Given the description of an element on the screen output the (x, y) to click on. 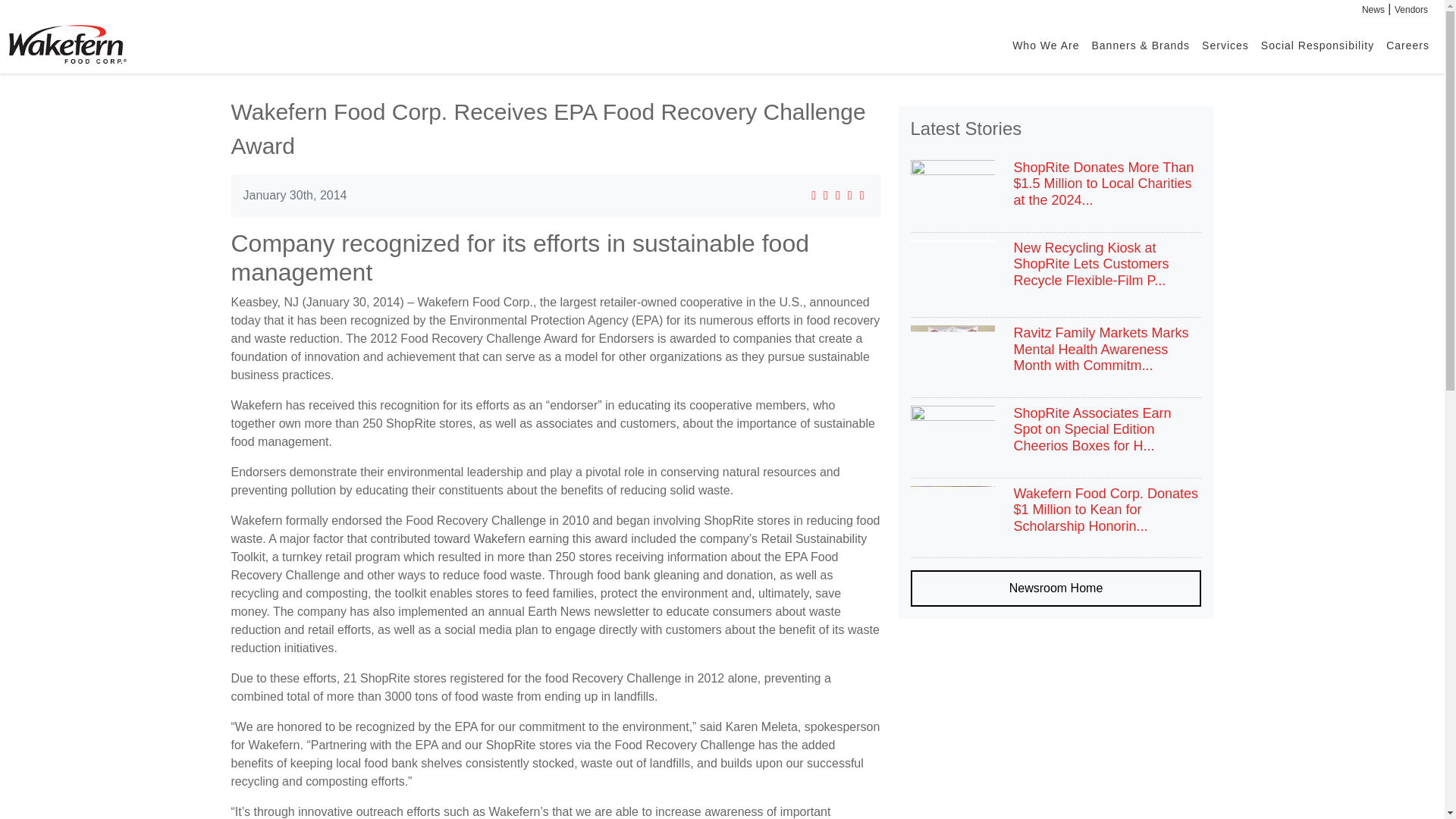
Newsroom Home (1055, 588)
Services (1225, 44)
Careers (1407, 44)
Who We Are (1045, 44)
Social Responsibility (1317, 44)
Vendors (1411, 9)
News (1372, 9)
